Given the description of an element on the screen output the (x, y) to click on. 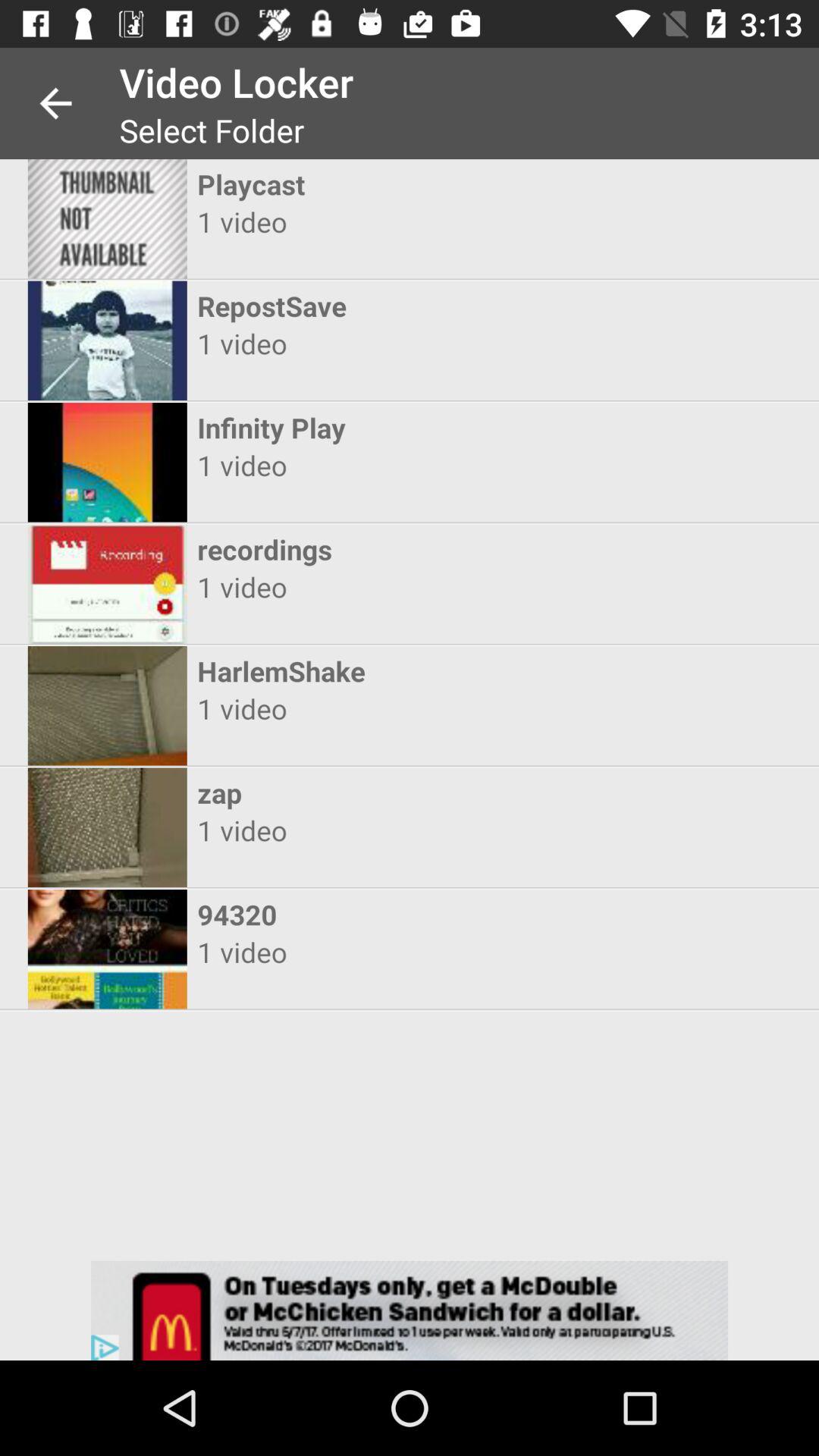
turn on icon below 1 video (396, 549)
